Given the description of an element on the screen output the (x, y) to click on. 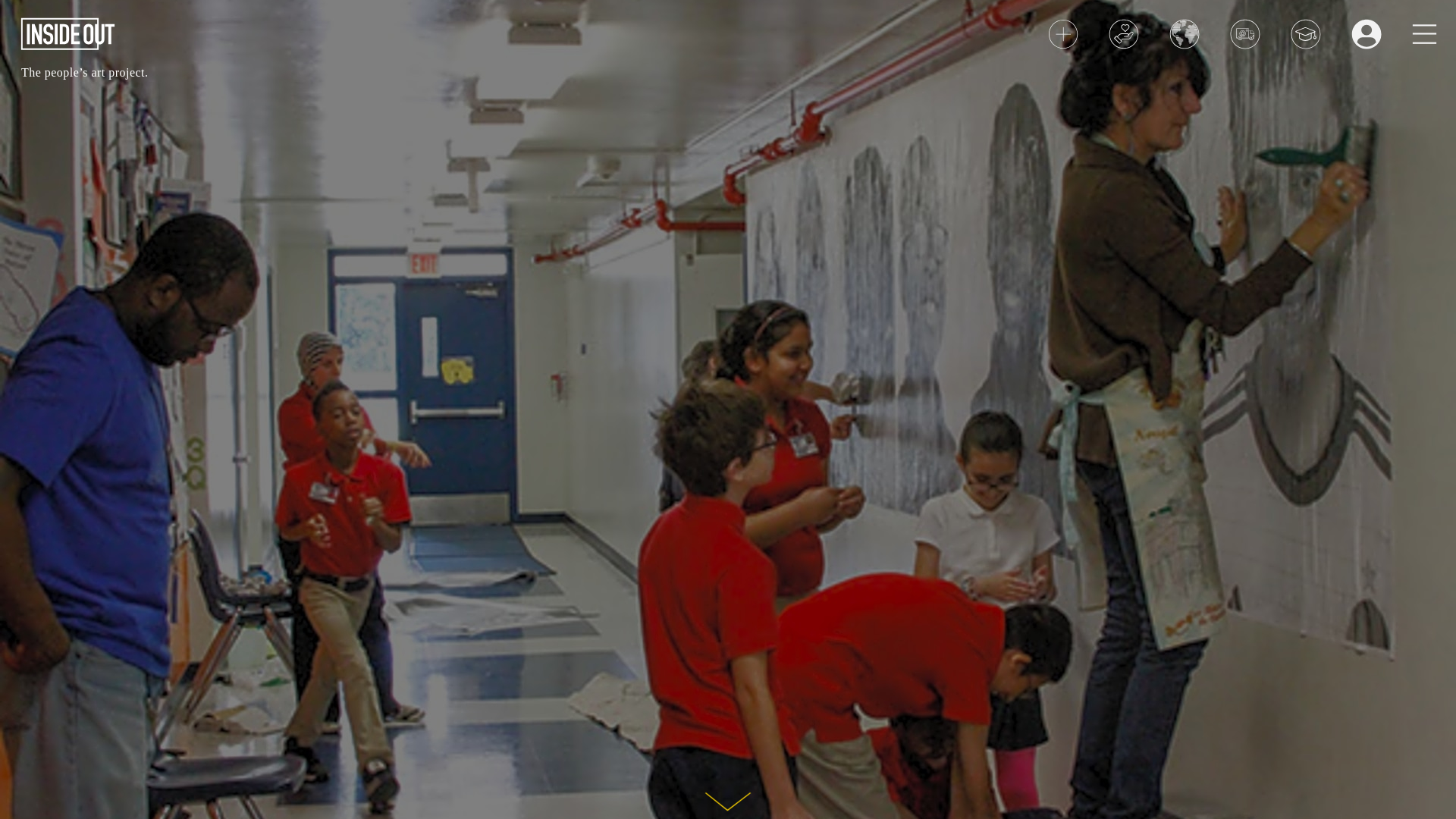
Login (1366, 33)
Photobooth (1245, 33)
Create an Action (1063, 33)
Explore (1184, 33)
Education (1305, 33)
Donate (1123, 33)
